Given the description of an element on the screen output the (x, y) to click on. 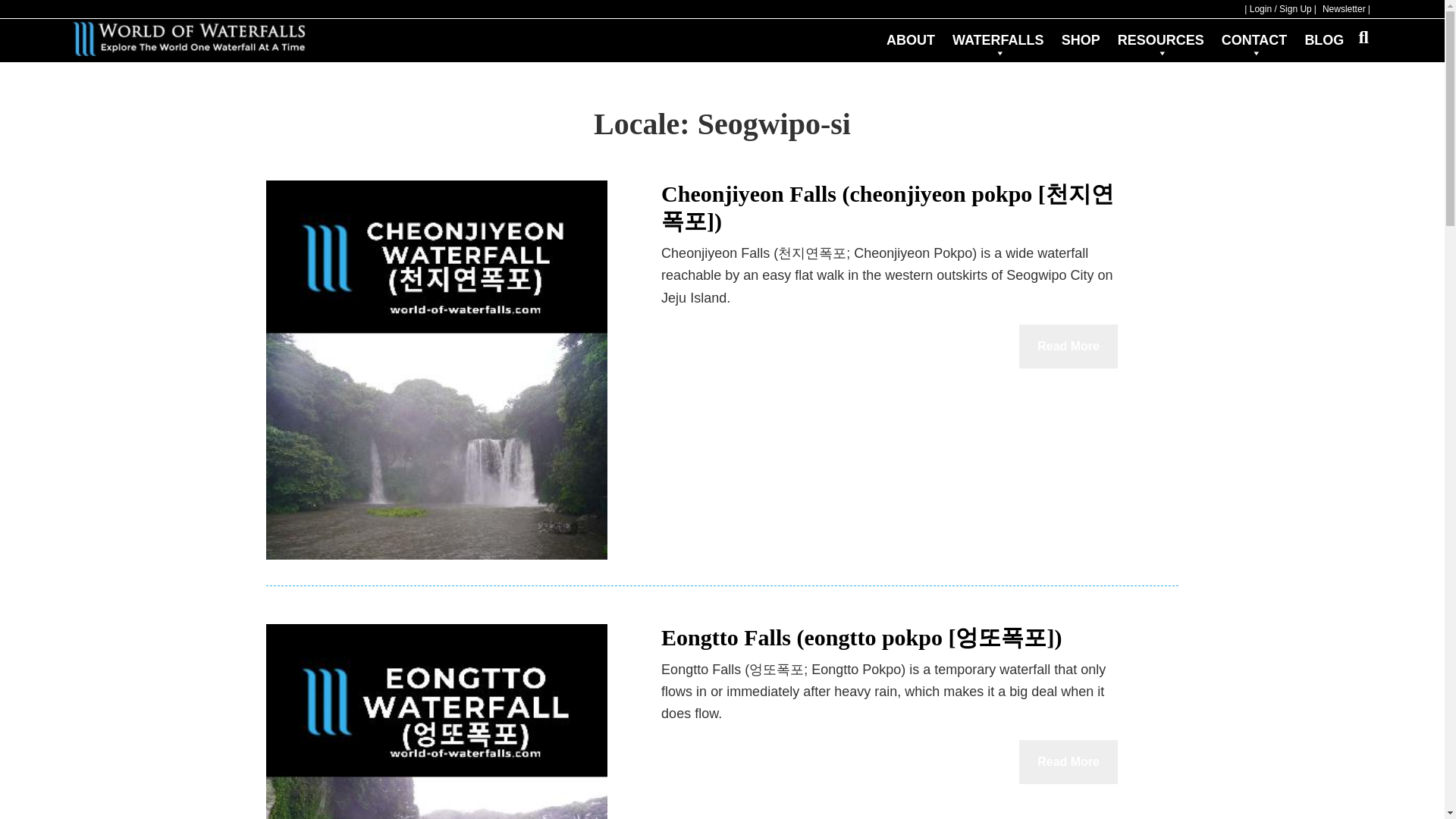
CONTACT (1254, 38)
Find Waterfalls on the World of Waterfalls (997, 38)
World of Waterfalls (188, 39)
Newsletter (1347, 9)
WATERFALLS (997, 38)
ABOUT (910, 32)
About Us at the World of Waterfalls (910, 32)
RESOURCES (1160, 38)
